Given the description of an element on the screen output the (x, y) to click on. 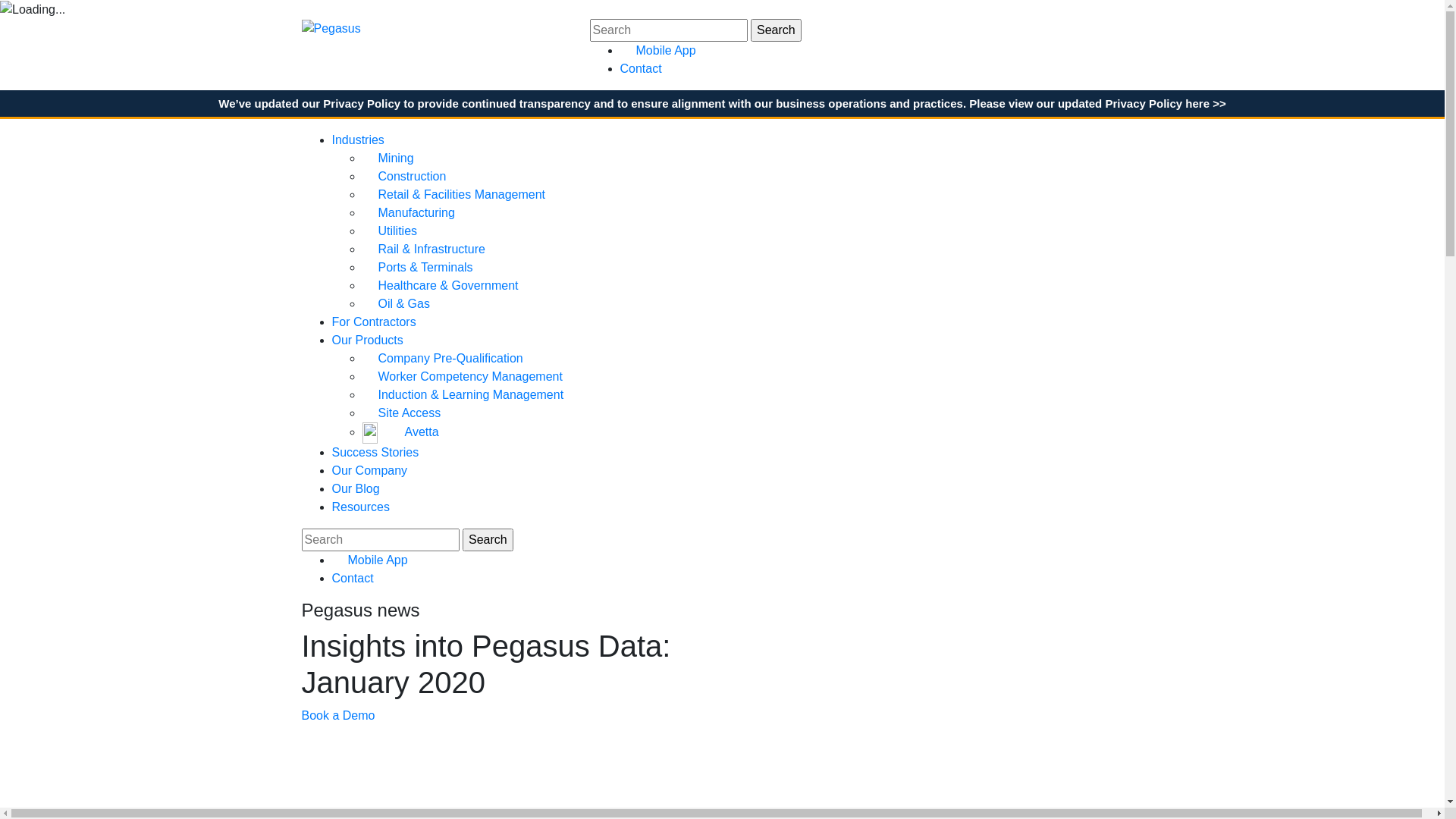
Healthcare & Government Element type: text (440, 285)
Our Blog Element type: text (355, 488)
Mobile App Element type: text (369, 559)
Book a Demo Element type: text (338, 715)
Rail & Infrastructure Element type: text (423, 248)
Mining Element type: text (388, 157)
Site Access Element type: text (401, 412)
Mobile App Element type: text (658, 49)
Resources Element type: text (360, 506)
Avetta Element type: text (400, 431)
Pegasus Element type: hover (330, 27)
Search Element type: text (487, 539)
Success Stories Element type: text (375, 451)
Construction Element type: text (404, 175)
Our Company Element type: text (369, 470)
Utilities Element type: text (389, 230)
Our Products Element type: text (367, 339)
Oil & Gas Element type: text (395, 303)
Contact Element type: text (352, 577)
Worker Competency Management Element type: text (462, 376)
Industries Element type: text (358, 139)
Induction & Learning Management Element type: text (463, 394)
Manufacturing Element type: text (408, 212)
Retail & Facilities Management Element type: text (454, 194)
Ports & Terminals Element type: text (417, 266)
Search Element type: text (775, 29)
Contact Element type: text (641, 68)
For Contractors Element type: text (374, 321)
Company Pre-Qualification Element type: text (442, 357)
